Given the description of an element on the screen output the (x, y) to click on. 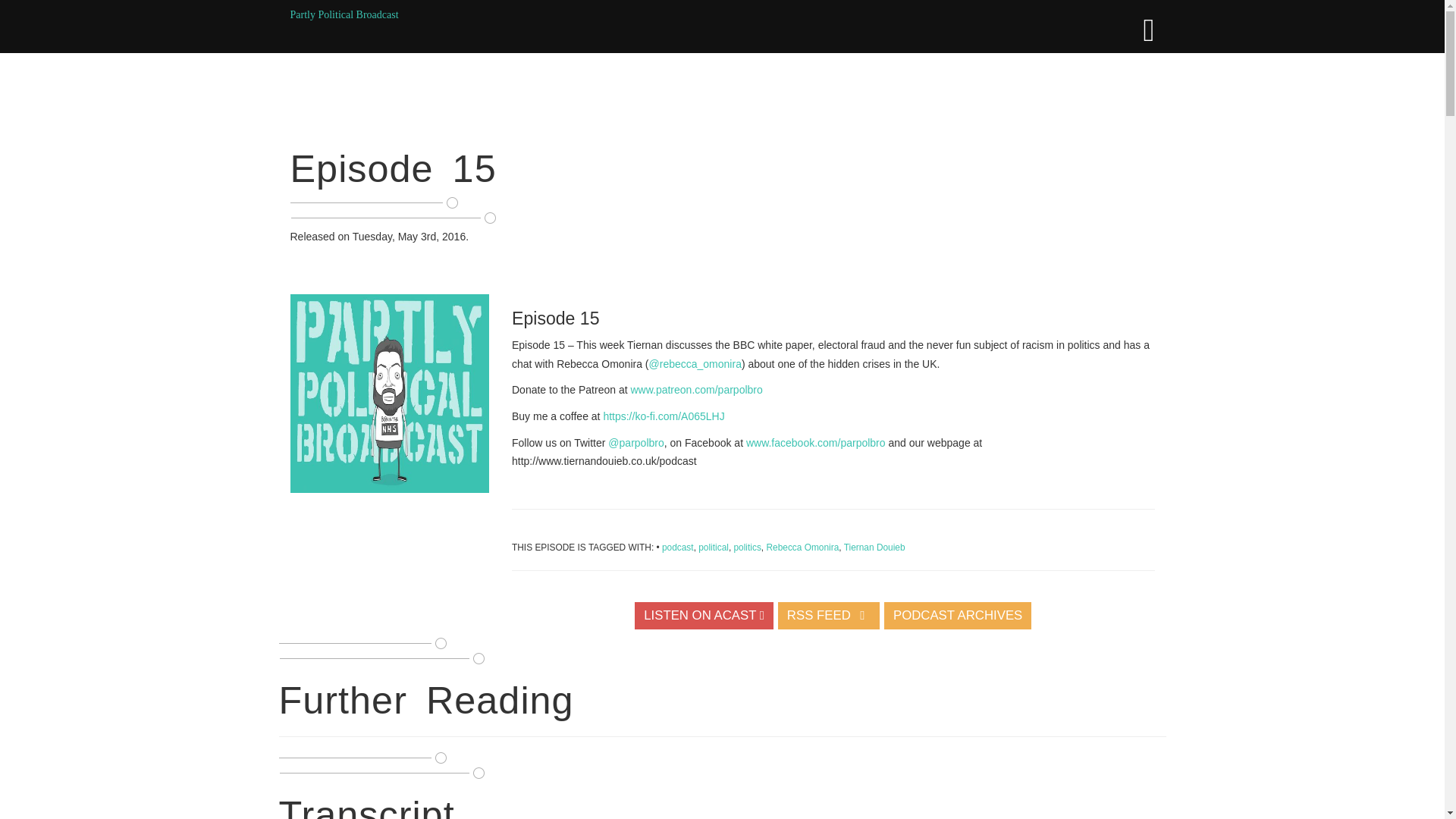
podcast (678, 547)
RSS FEED (828, 615)
PODCAST ARCHIVES (957, 615)
RSS FEED (828, 614)
LISTEN ON ACAST (703, 614)
politics (747, 547)
Rebecca Omonira (801, 547)
PODCAST ARCHIVES (957, 614)
political (713, 547)
Partly Political Broadcast (343, 14)
